Given the description of an element on the screen output the (x, y) to click on. 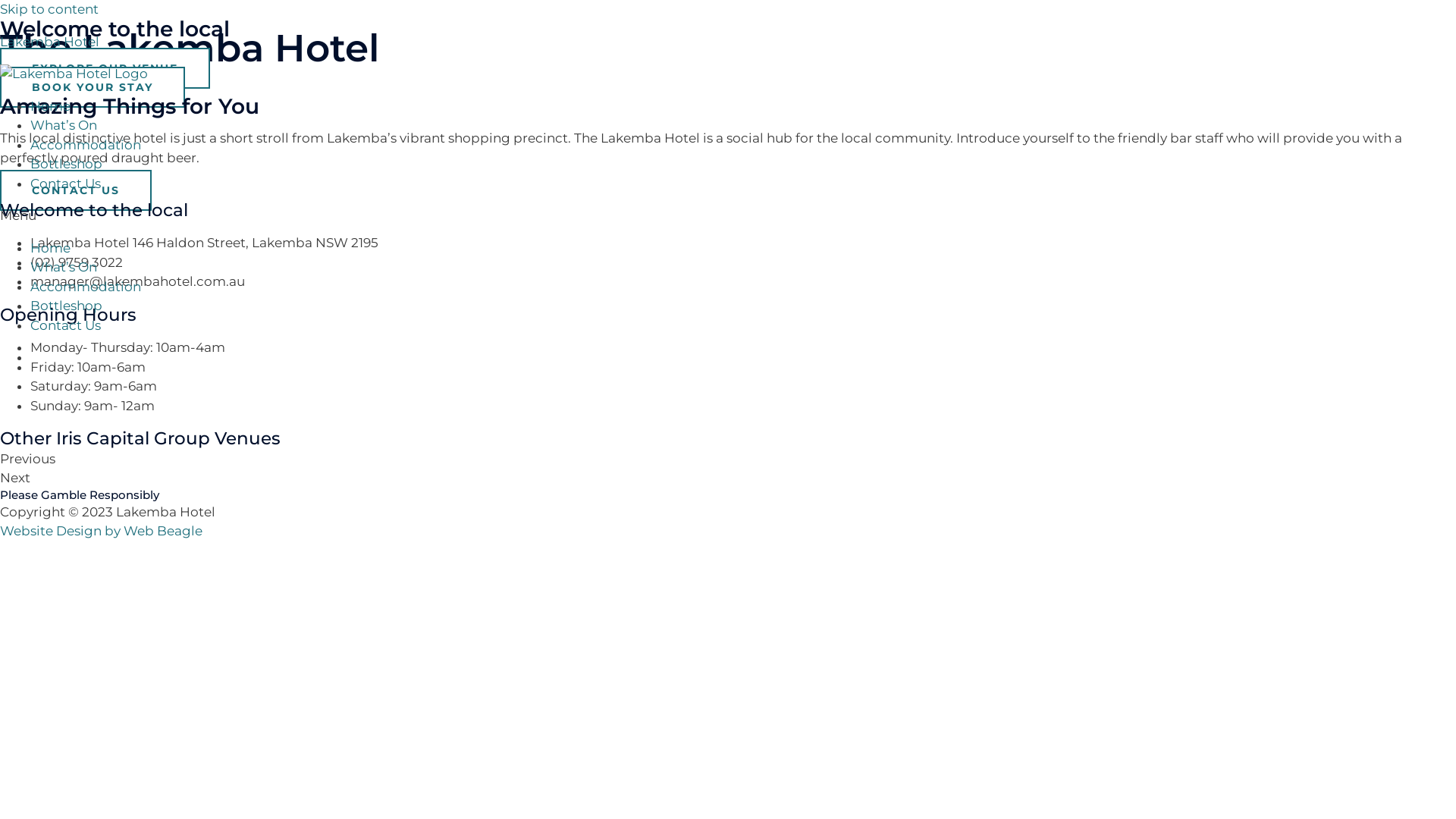
Lakemba Hotel Element type: text (49, 40)
Bottleshop Element type: text (66, 163)
Contact Us Element type: text (65, 324)
Accommodation Element type: text (85, 143)
Home Element type: text (50, 246)
CONTACT US Element type: text (75, 189)
Contact Us Element type: text (65, 183)
Website Design by Web Beagle Element type: text (101, 530)
Bottleshop Element type: text (66, 305)
Accommodation Element type: text (85, 286)
BOOK YOUR STAY Element type: text (92, 86)
Home Element type: text (50, 105)
EXPLORE OUR VENUE Element type: text (105, 67)
Skip to content Element type: text (49, 8)
